Given the description of an element on the screen output the (x, y) to click on. 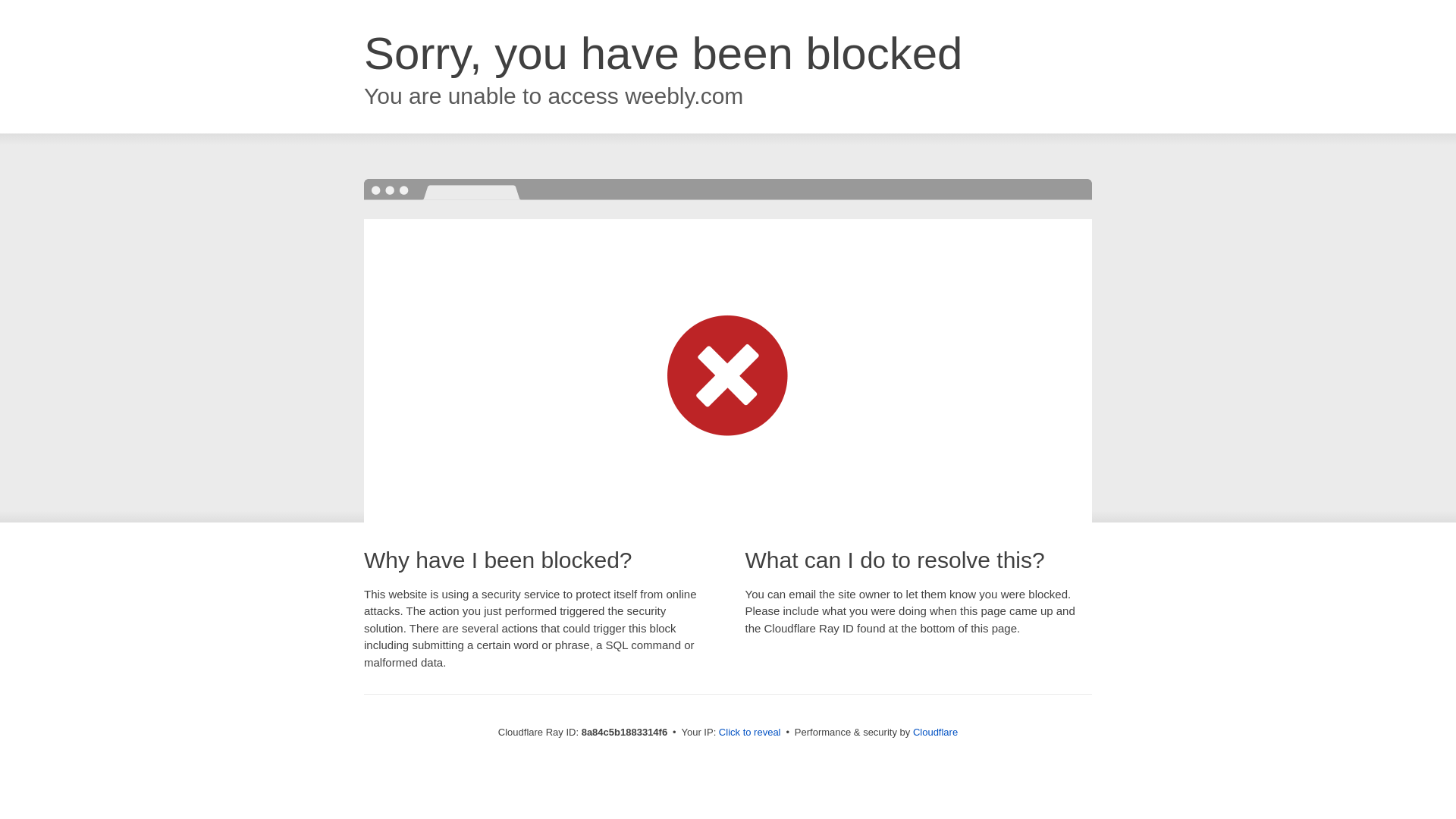
Click to reveal (749, 732)
Cloudflare (935, 731)
